Given the description of an element on the screen output the (x, y) to click on. 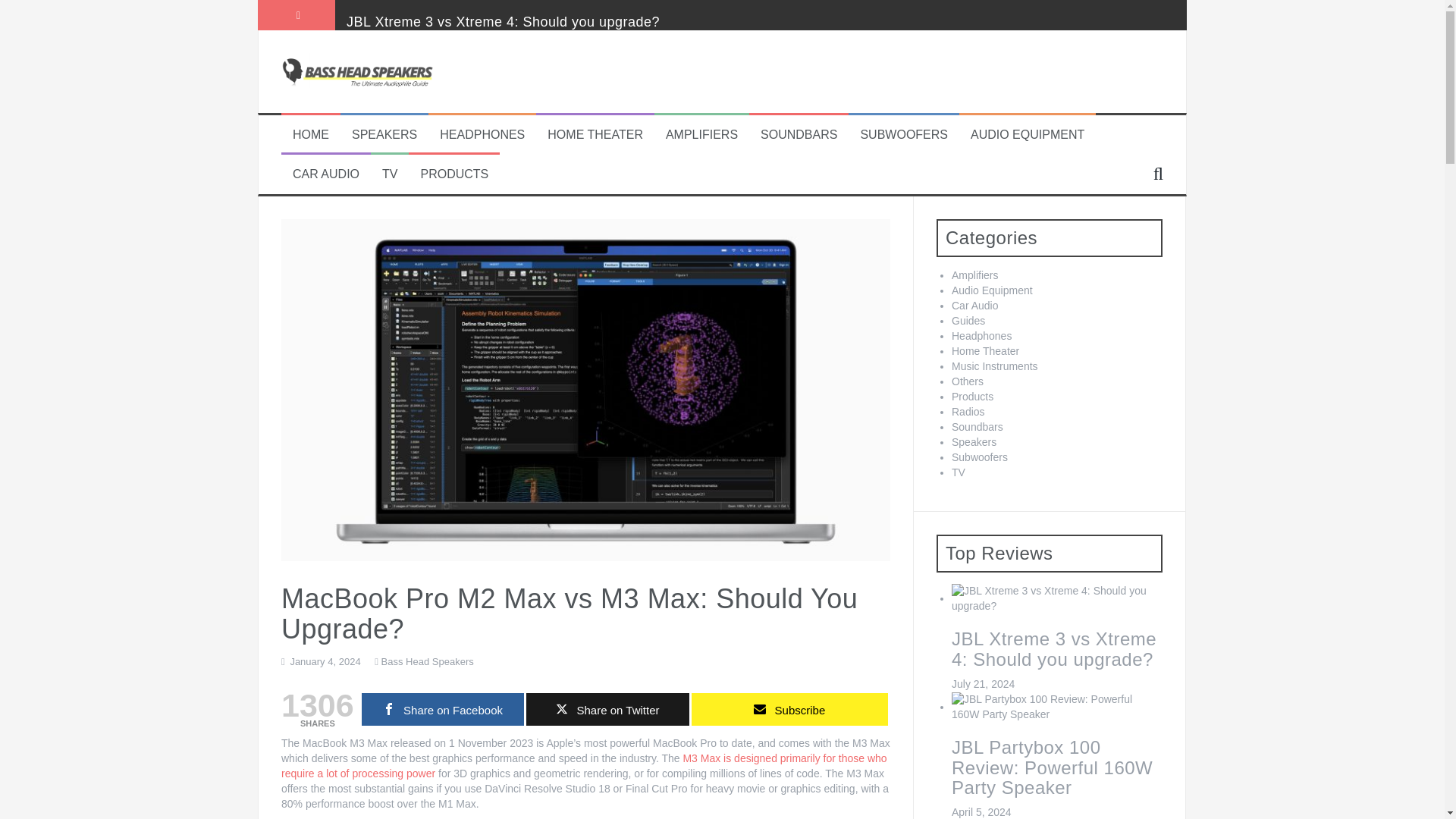
JBL Xtreme 3 vs Xtreme 4: Should you upgrade? (502, 21)
Subscribe (789, 708)
Bass Head Speakers (356, 70)
HOME THEATER (595, 135)
January 4, 2024 (324, 661)
SPEAKERS (384, 135)
SOUNDBARS (798, 135)
PRODUCTS (453, 174)
AMPLIFIERS (701, 135)
